Given the description of an element on the screen output the (x, y) to click on. 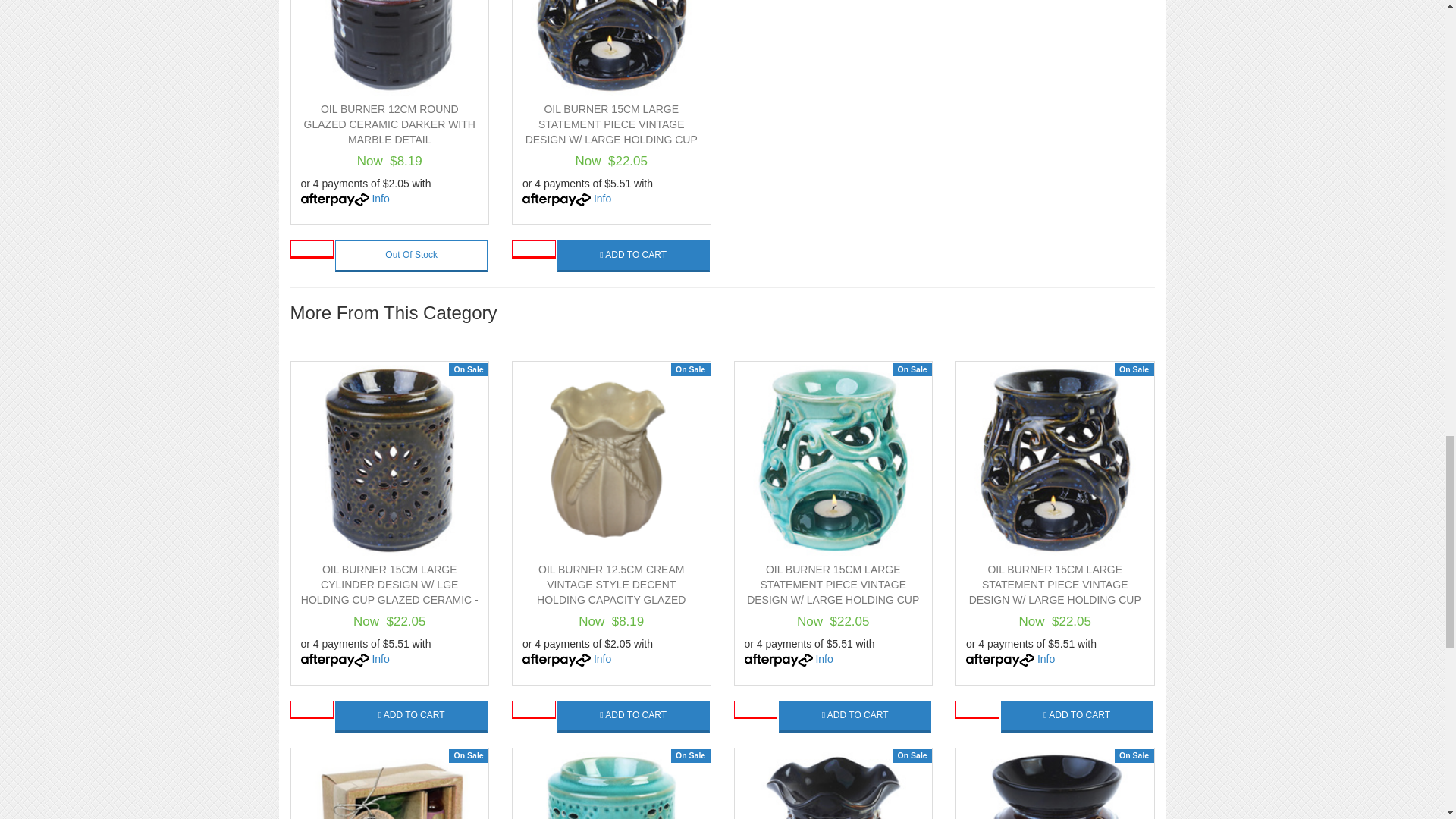
Add to Cart (633, 255)
Add to Cart (633, 716)
Notify Me When Back In Stock (410, 255)
Add to Cart (410, 716)
